Given the description of an element on the screen output the (x, y) to click on. 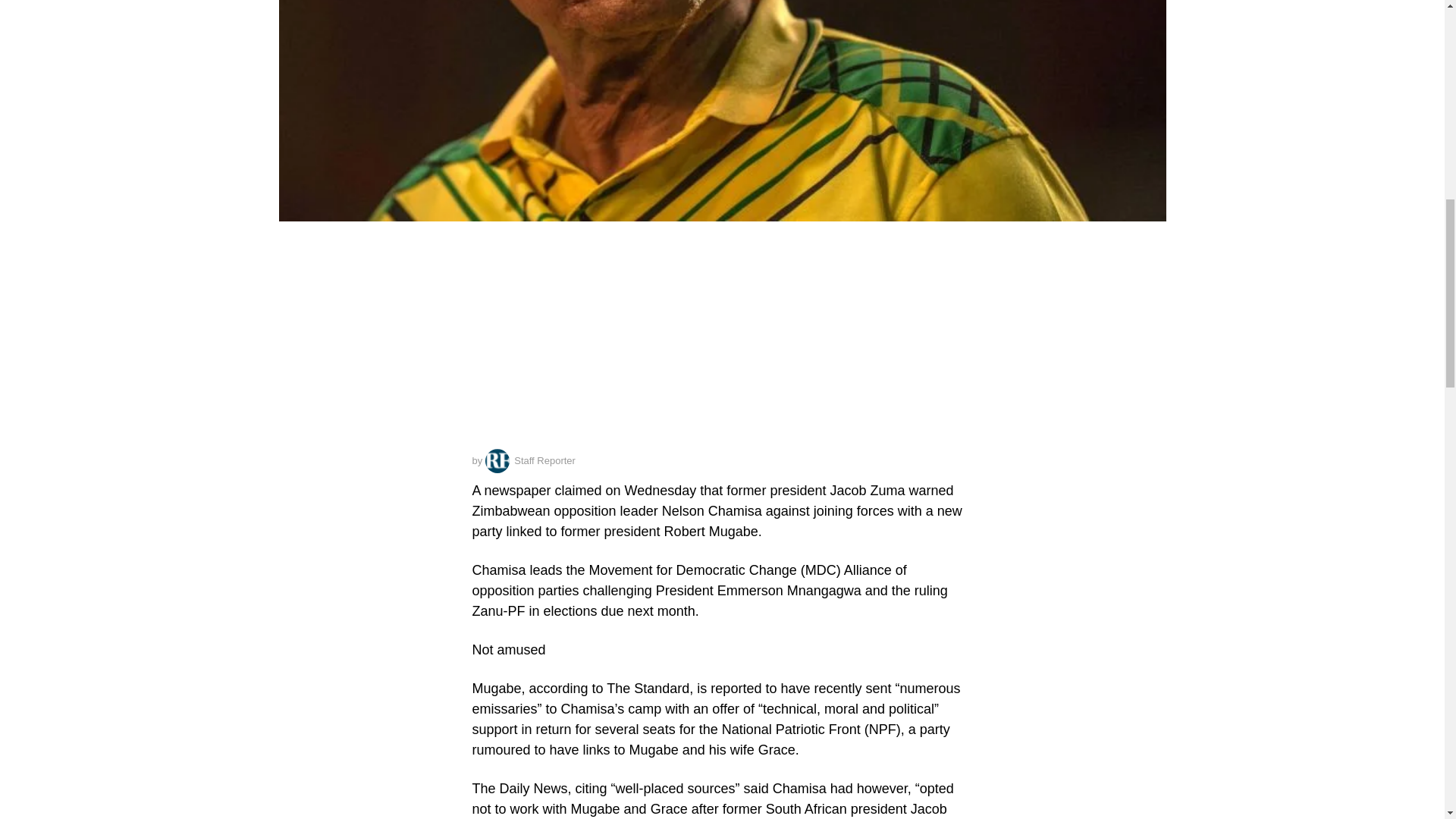
Staff Reporter (529, 460)
